Given the description of an element on the screen output the (x, y) to click on. 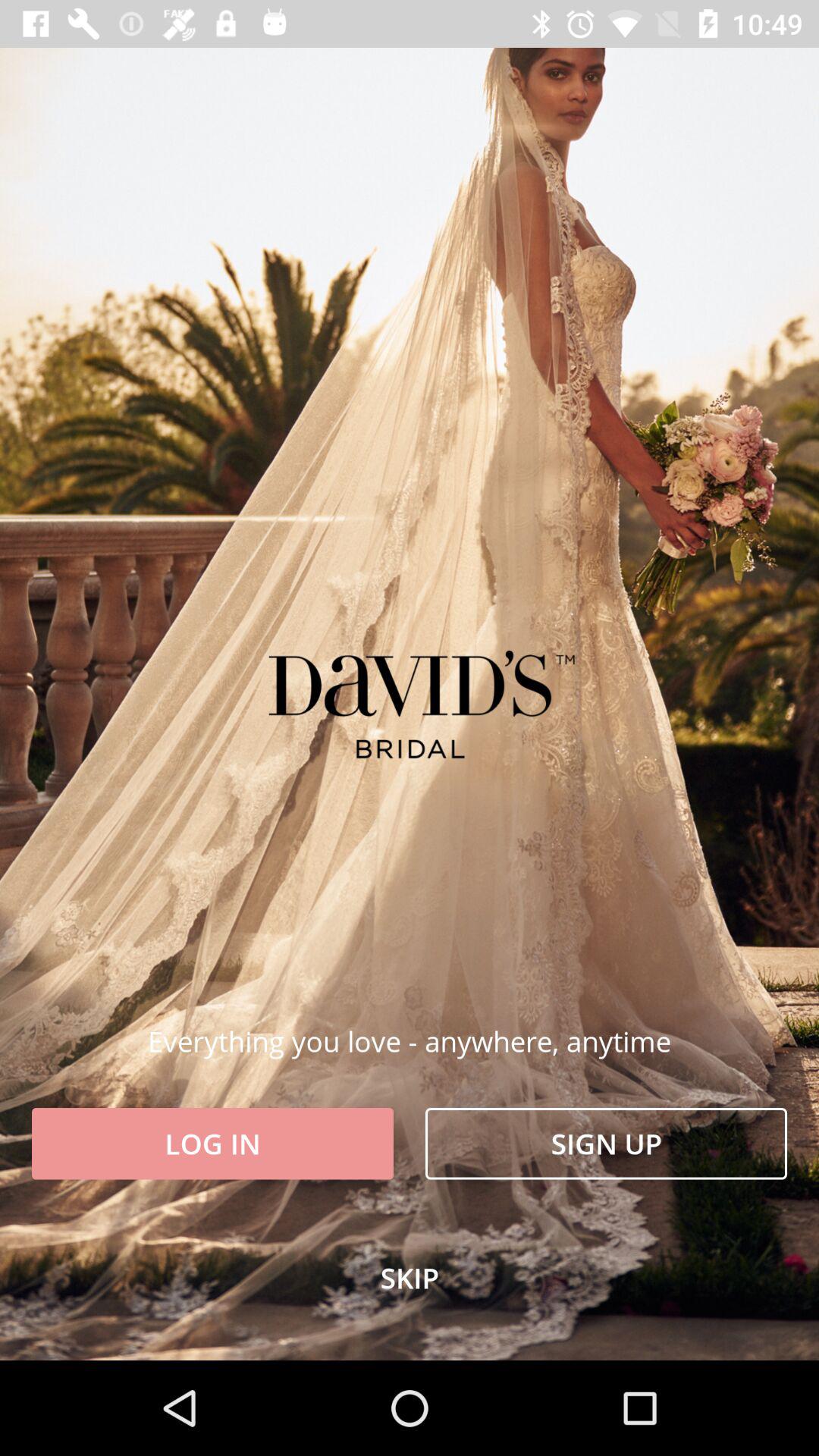
select the icon below the log in (409, 1277)
